Given the description of an element on the screen output the (x, y) to click on. 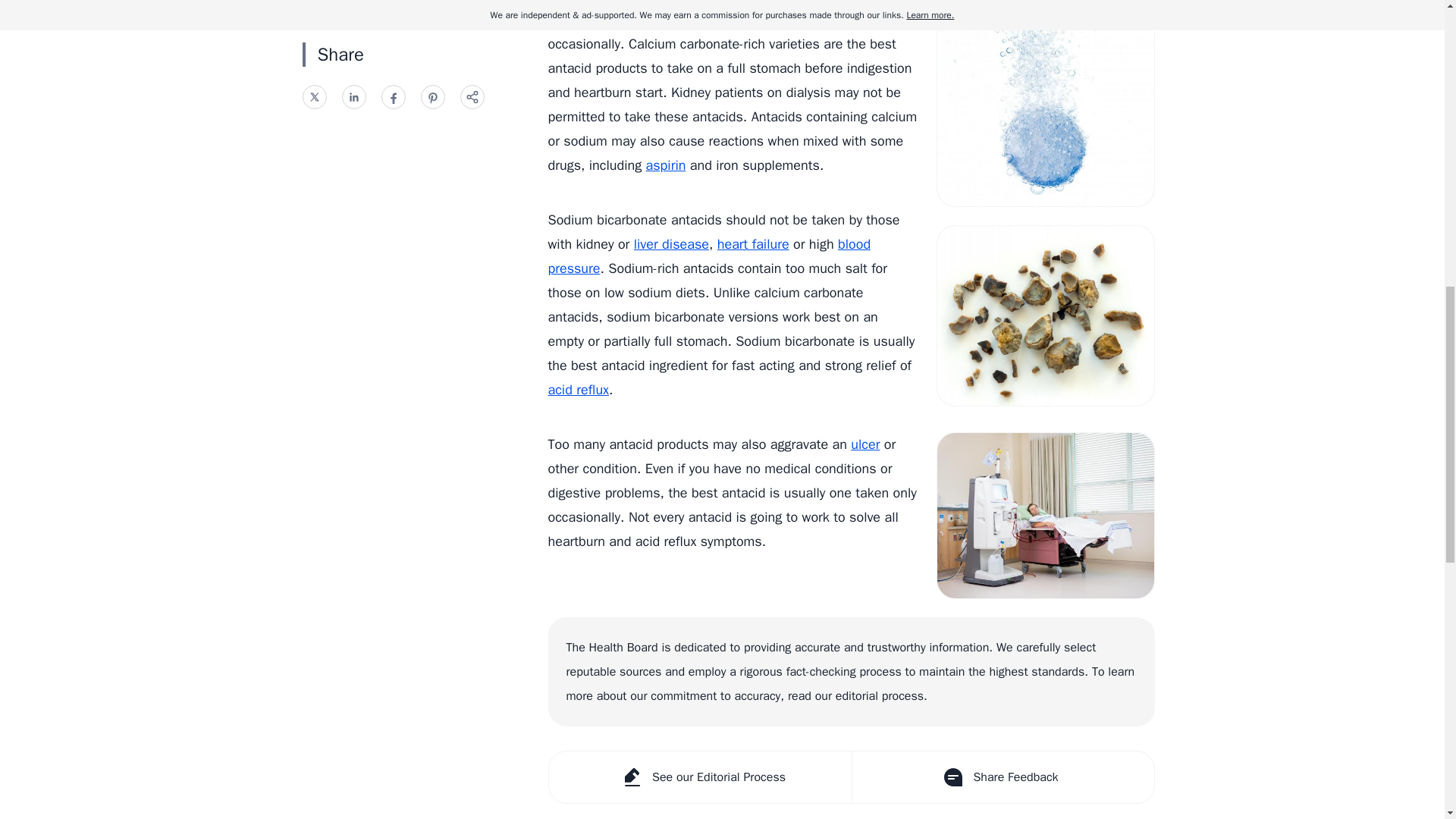
liver disease (671, 243)
heart failure (753, 243)
aspirin (665, 165)
blood pressure (708, 255)
